Given the description of an element on the screen output the (x, y) to click on. 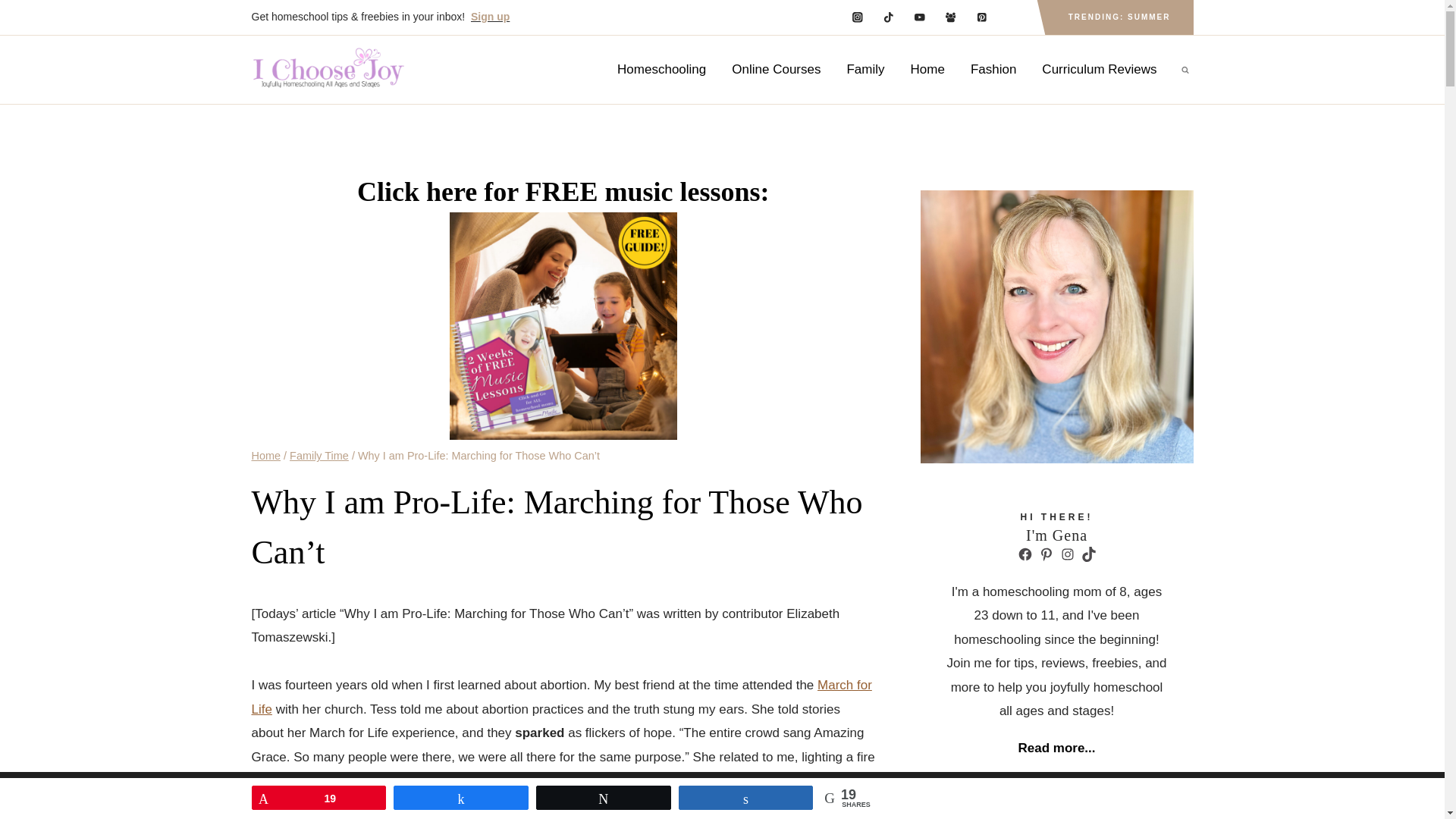
Family (864, 69)
Home (266, 455)
Curriculum Reviews (1099, 69)
Home (928, 69)
March for Life (561, 696)
Family Time (319, 455)
Sign up (489, 16)
Fashion (993, 69)
Online Courses (775, 69)
Click here (416, 191)
TRENDING: SUMMER (1119, 17)
Homeschooling (661, 69)
